Given the description of an element on the screen output the (x, y) to click on. 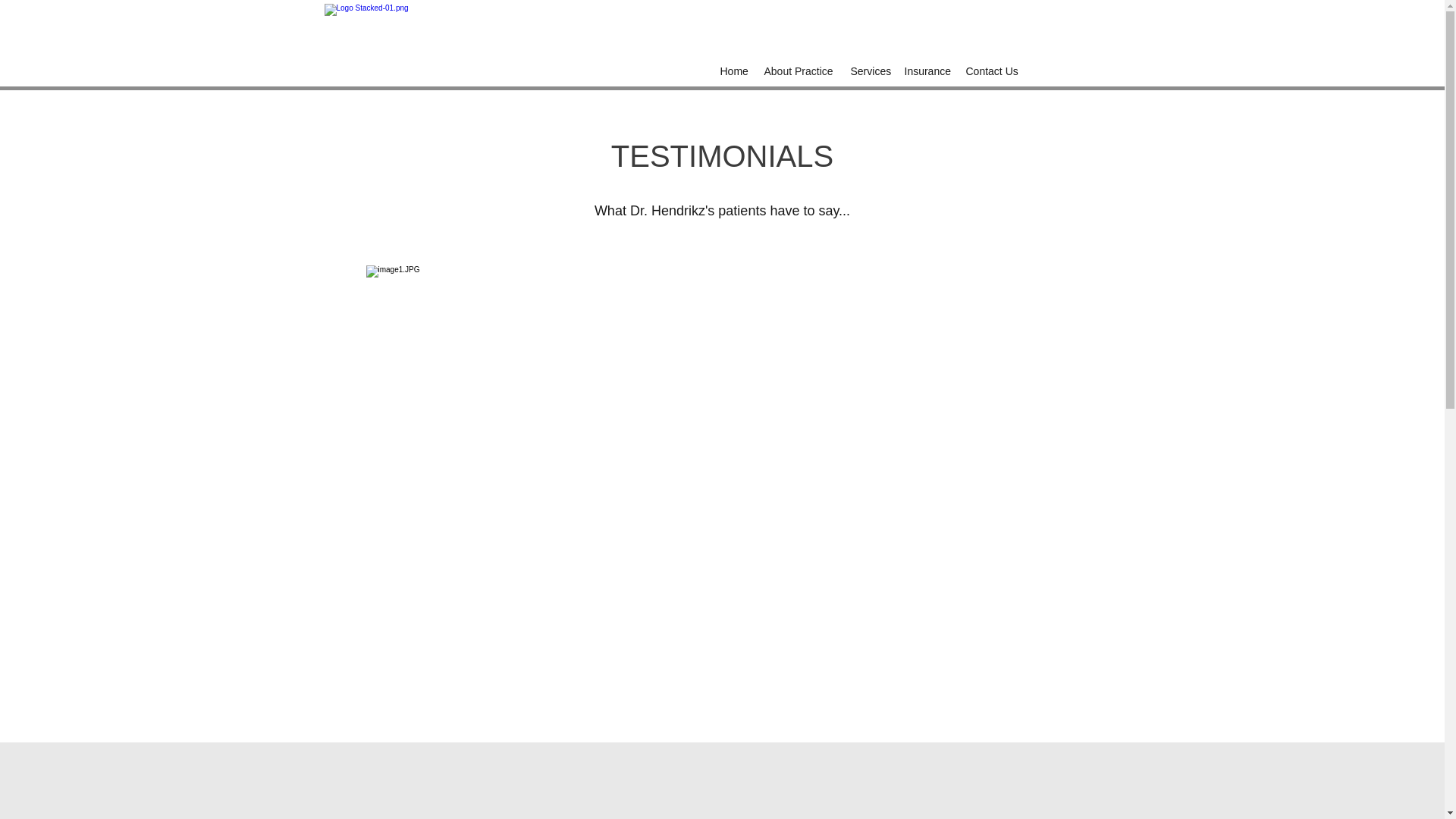
Insurance (927, 70)
Contact Us (992, 70)
Home (735, 70)
Services (869, 70)
About Practice (800, 70)
